Given the description of an element on the screen output the (x, y) to click on. 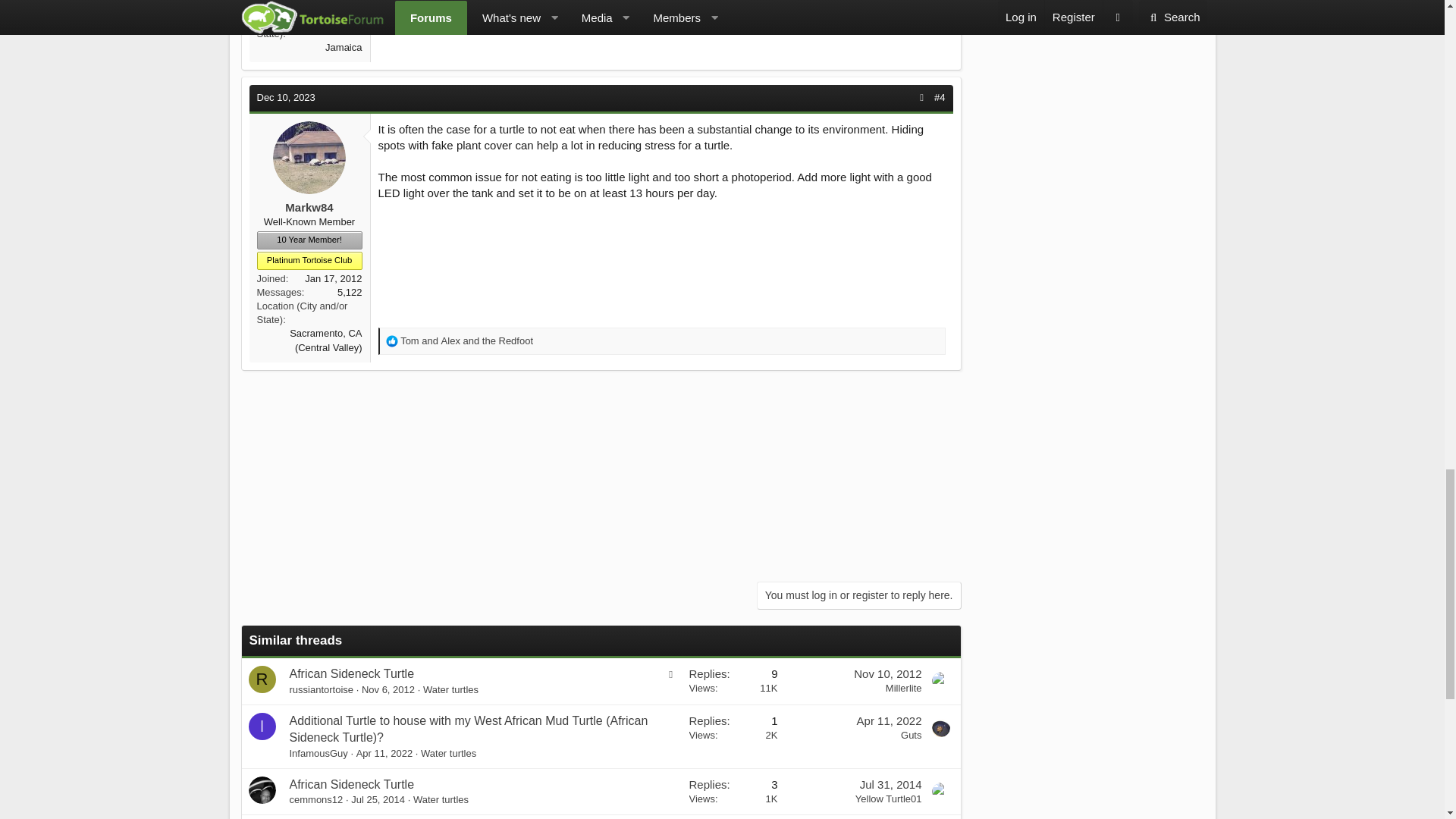
First message reaction score: 0 (733, 681)
Nov 6, 2012 at 10:59 AM (387, 689)
Like (391, 340)
Nov 10, 2012 at 6:48 PM (887, 673)
Dec 10, 2023 at 7:53 AM (285, 97)
